Given the description of an element on the screen output the (x, y) to click on. 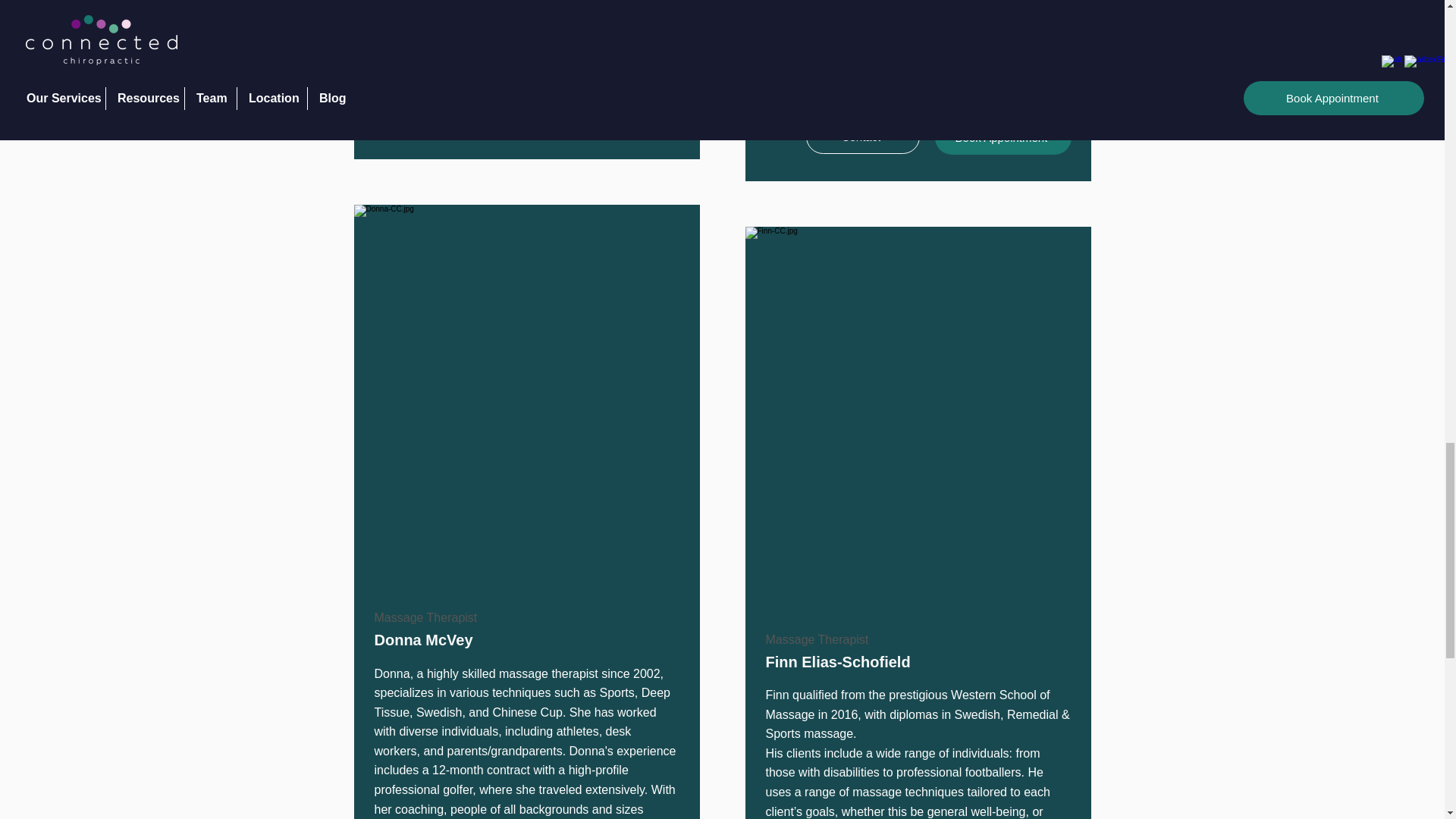
Book Appointment (1002, 136)
Contact (470, 114)
Contact (861, 136)
Book Appointment (611, 115)
